Given the description of an element on the screen output the (x, y) to click on. 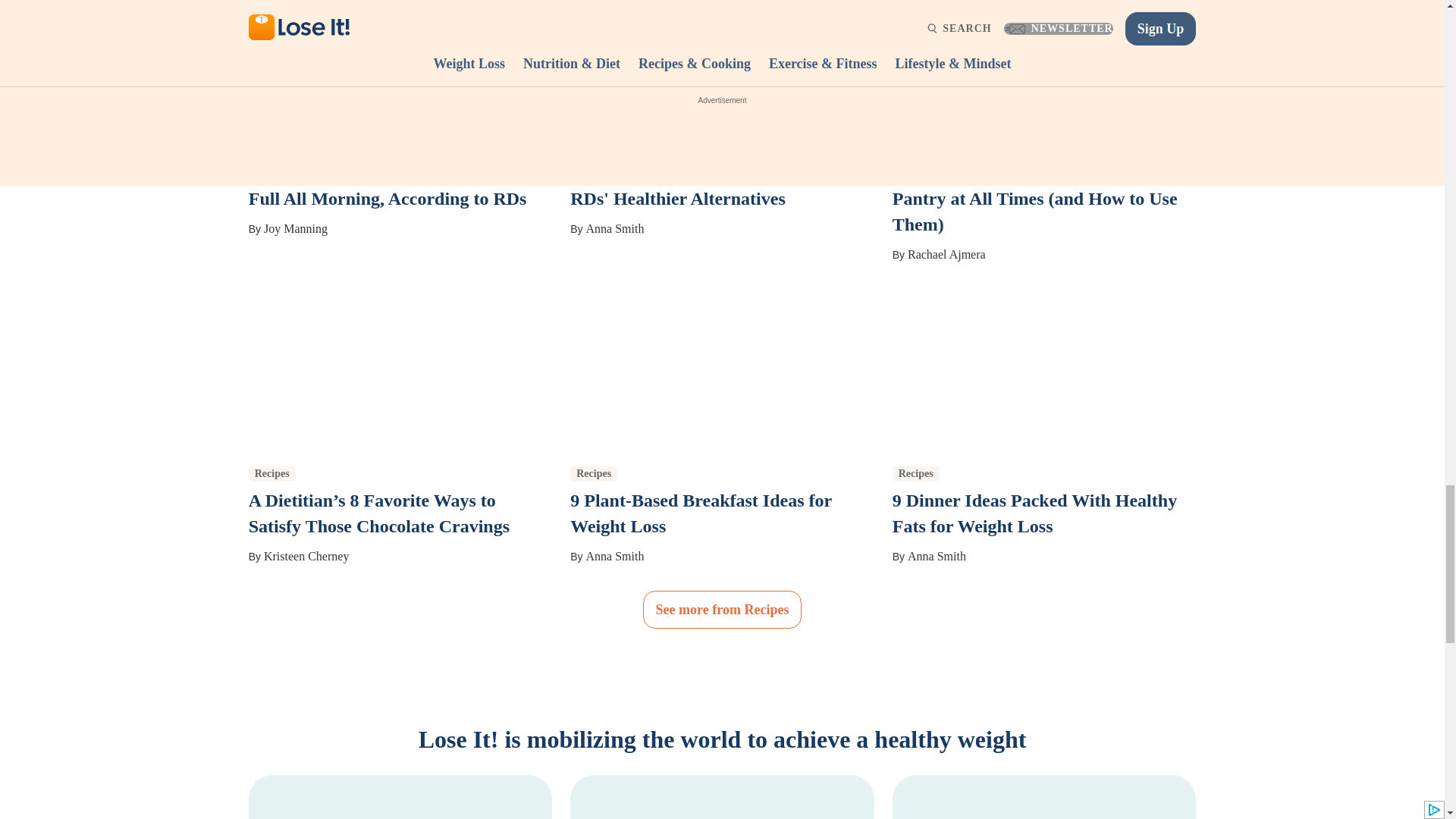
See more from Recipes (722, 609)
7 Popular Super Bowl Snacks and RDs' Healthier Alternatives (702, 185)
9 Dinner Ideas Packed With Healthy Fats for Weight Loss (1034, 513)
9 Plant-Based Breakfast Ideas for Weight Loss (700, 513)
